Given the description of an element on the screen output the (x, y) to click on. 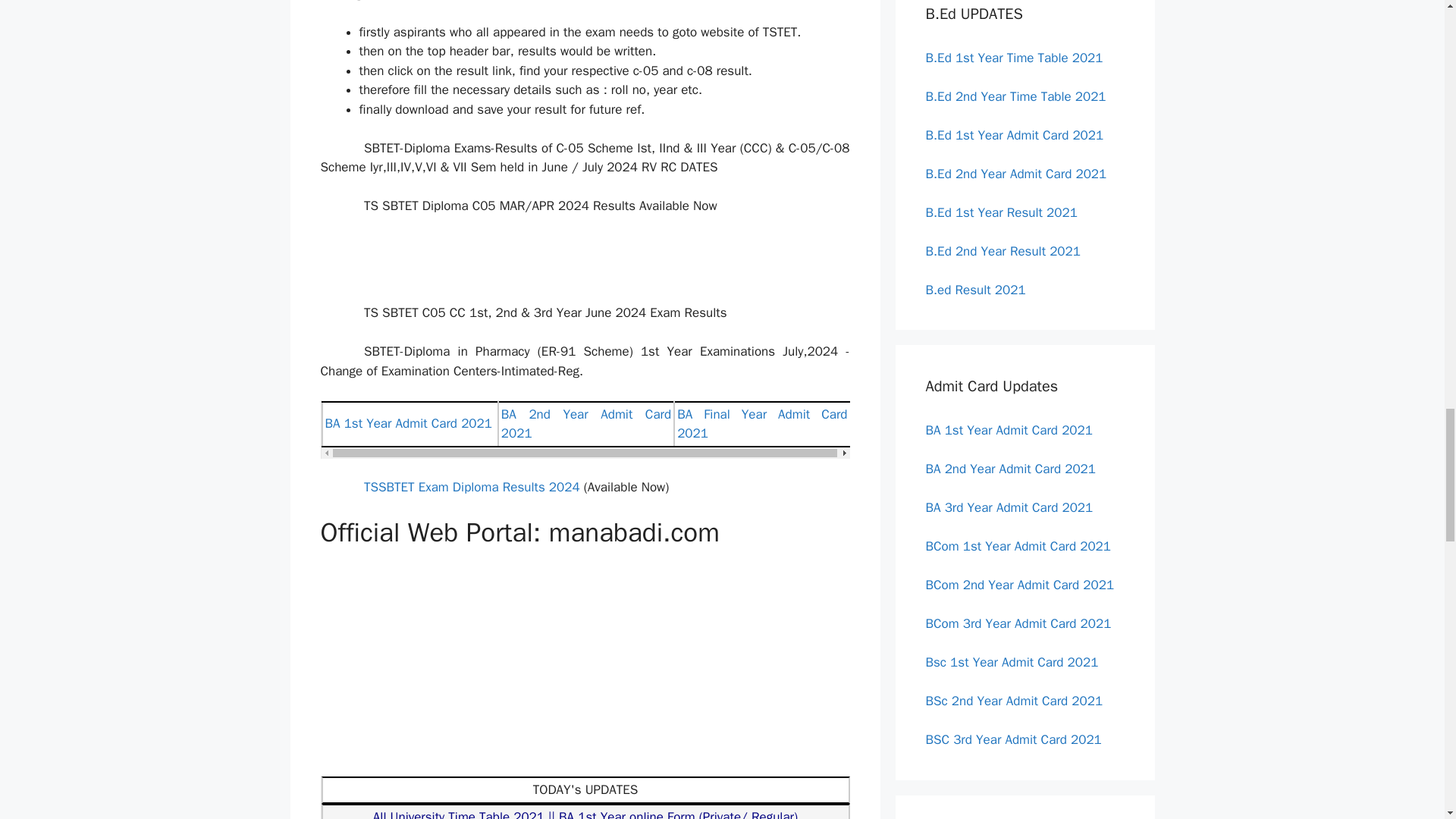
BA 2nd Year Admit Card 2021 (585, 424)
BA 1st Year Admit Card 2021 (408, 423)
TSSBTET Exam Diploma Results 2024 (473, 487)
Advertisement (603, 269)
Advertisement (603, 669)
BA Final Year Admit Card 2021 (762, 424)
